Given the description of an element on the screen output the (x, y) to click on. 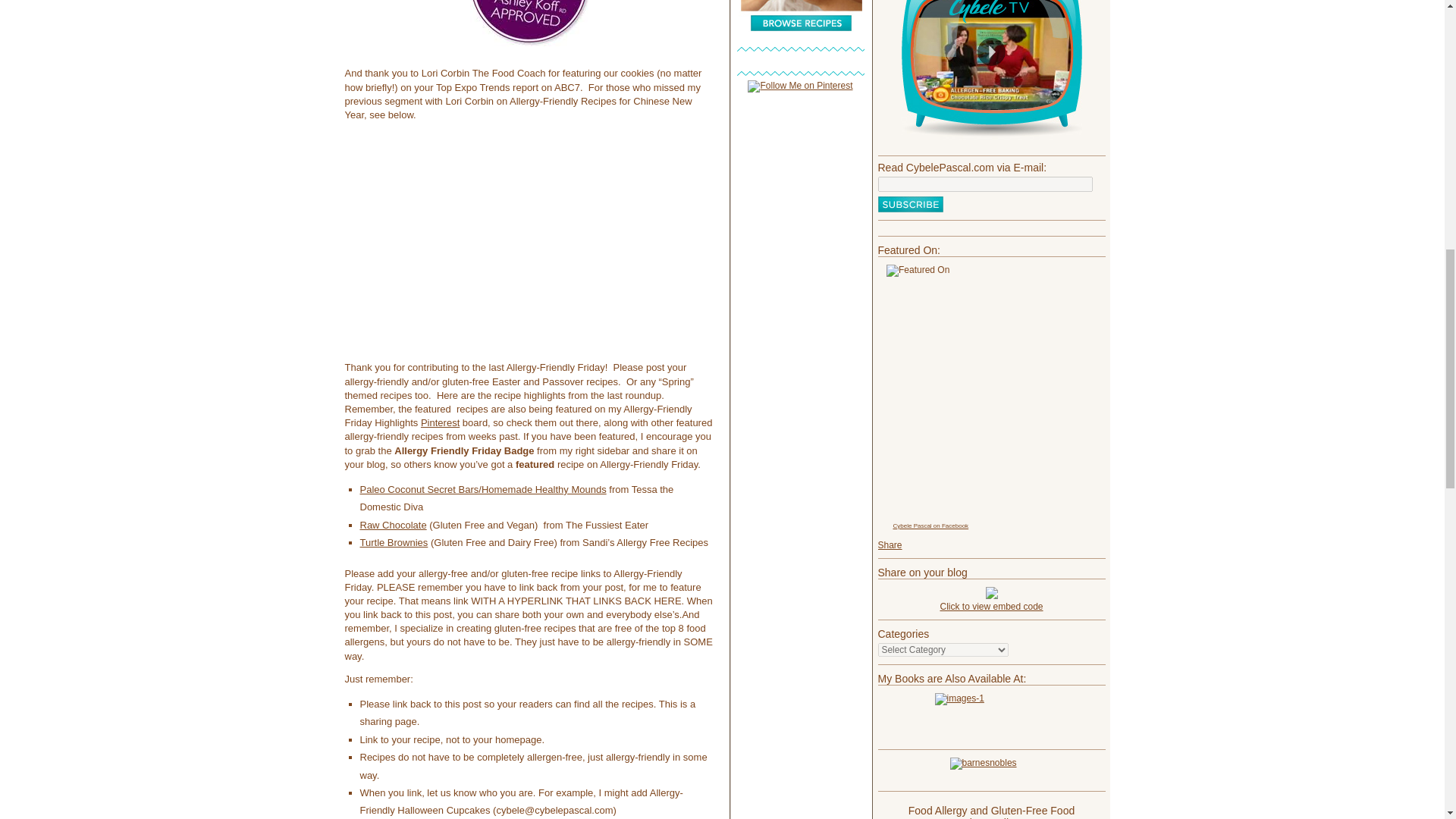
Cybele TV (991, 70)
barnesnobles (991, 769)
Raw Chocolate (392, 524)
Subscribe (910, 204)
Pinterest (440, 422)
recipe-ad (800, 15)
Turtle Brownies (393, 542)
Follow Me on Pinterest (799, 85)
images-1 (991, 717)
